Given the description of an element on the screen output the (x, y) to click on. 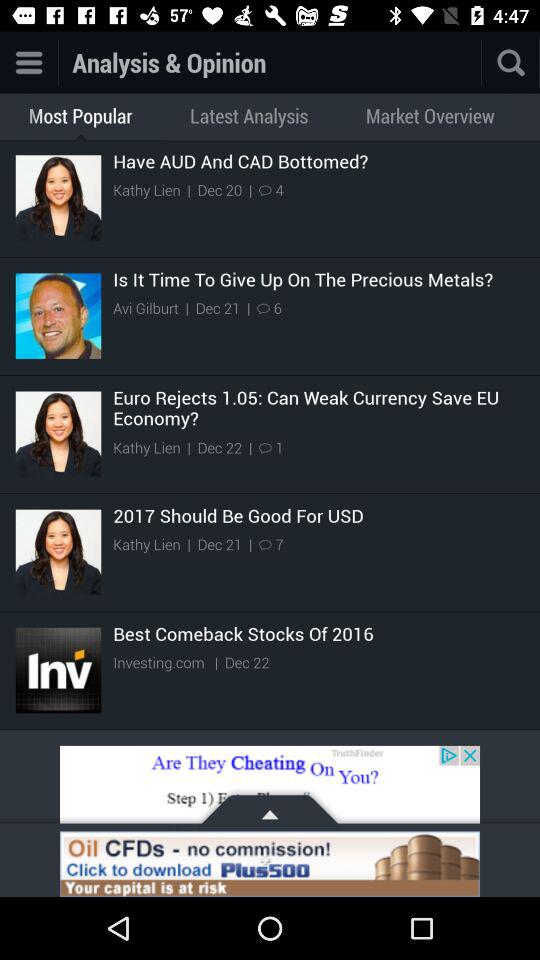
menu (28, 62)
